Given the description of an element on the screen output the (x, y) to click on. 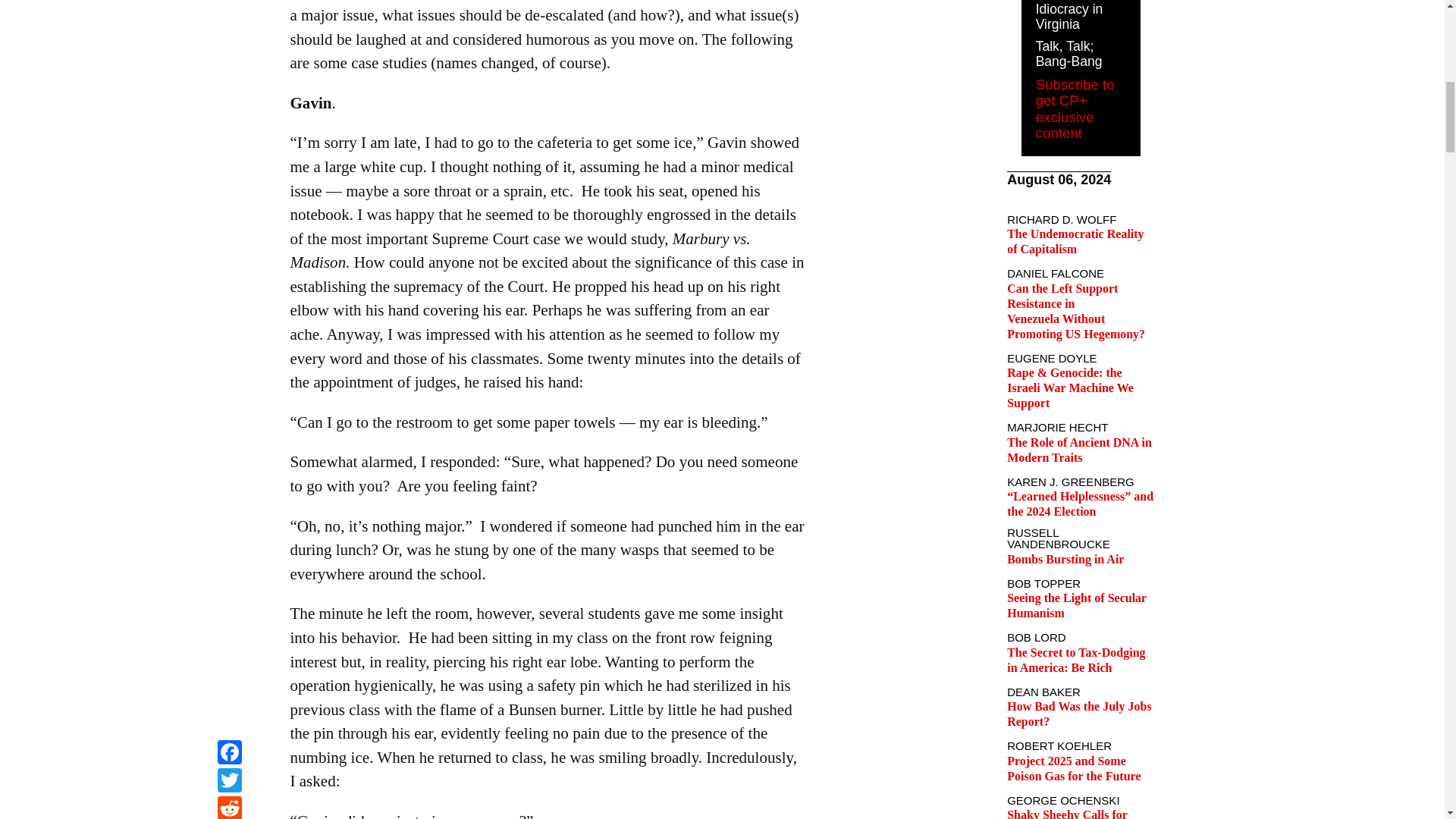
Idiocracy in Virginia (1069, 16)
Reddit (229, 2)
Talk, Talk; Bang-Bang (1068, 53)
Email (229, 18)
The Undemocratic Reality of Capitalism (1074, 241)
Email (229, 18)
Reddit (229, 2)
